Given the description of an element on the screen output the (x, y) to click on. 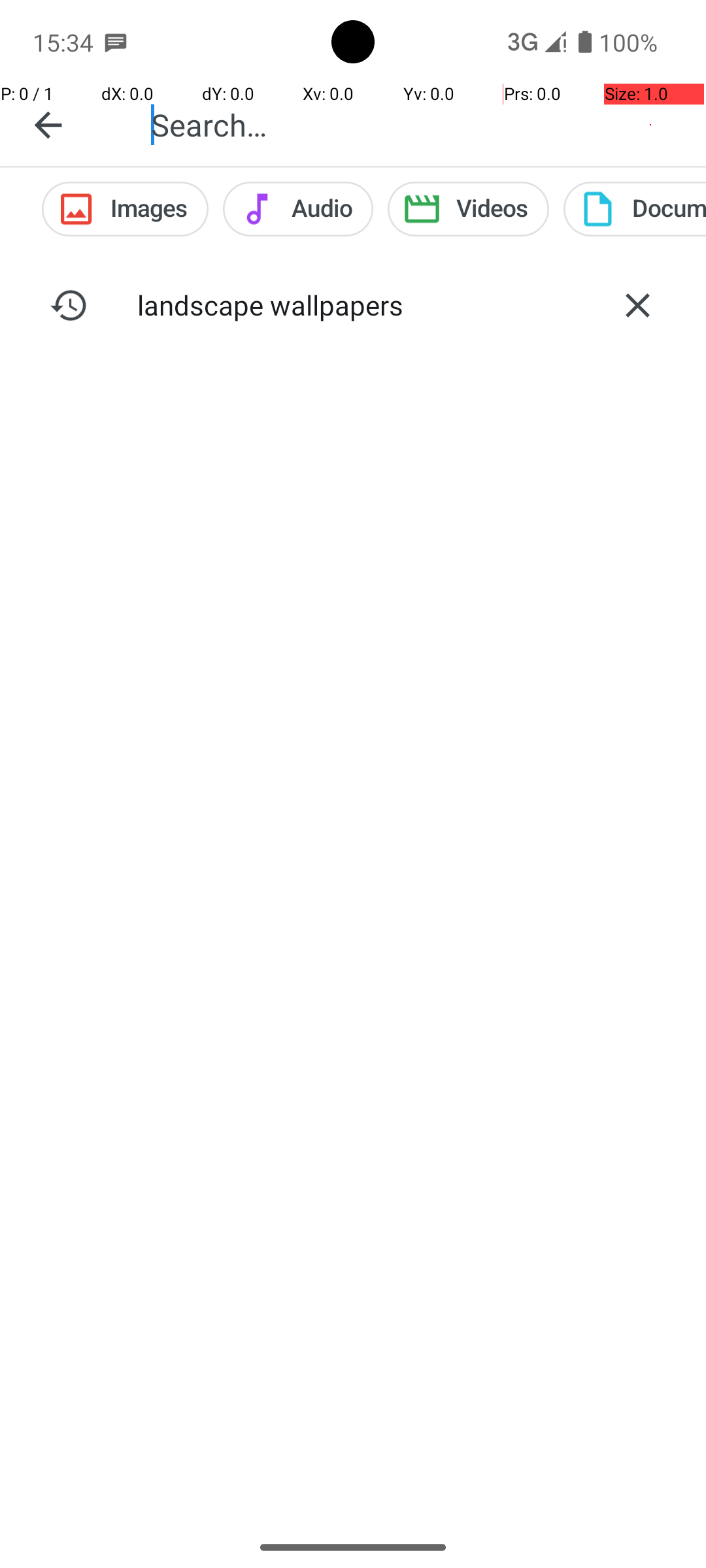
Search… Element type: android.widget.AutoCompleteTextView (414, 124)
Videos Element type: android.widget.CompoundButton (468, 208)
landscape wallpapers Element type: android.widget.TextView (352, 304)
Delete search history landscape wallpapers Element type: android.widget.ImageView (637, 304)
